Given the description of an element on the screen output the (x, y) to click on. 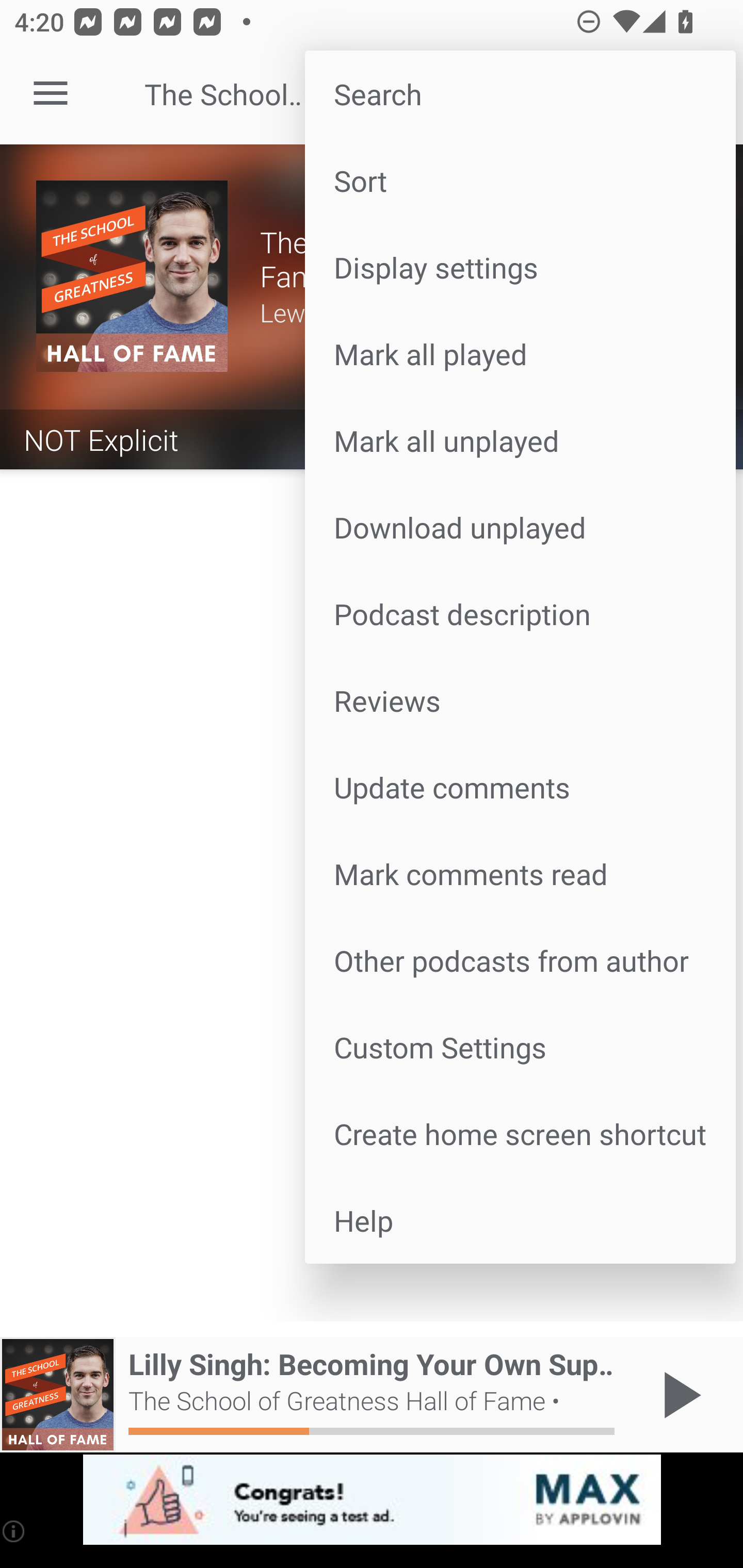
Search (519, 93)
Sort (519, 180)
Display settings (519, 267)
Mark all played (519, 353)
Mark all unplayed (519, 440)
Download unplayed (519, 527)
Podcast description (519, 613)
Reviews (519, 699)
Update comments (519, 787)
Mark comments read (519, 874)
Other podcasts from author (519, 960)
Custom Settings (519, 1046)
Create home screen shortcut (519, 1133)
Help (519, 1220)
